Given the description of an element on the screen output the (x, y) to click on. 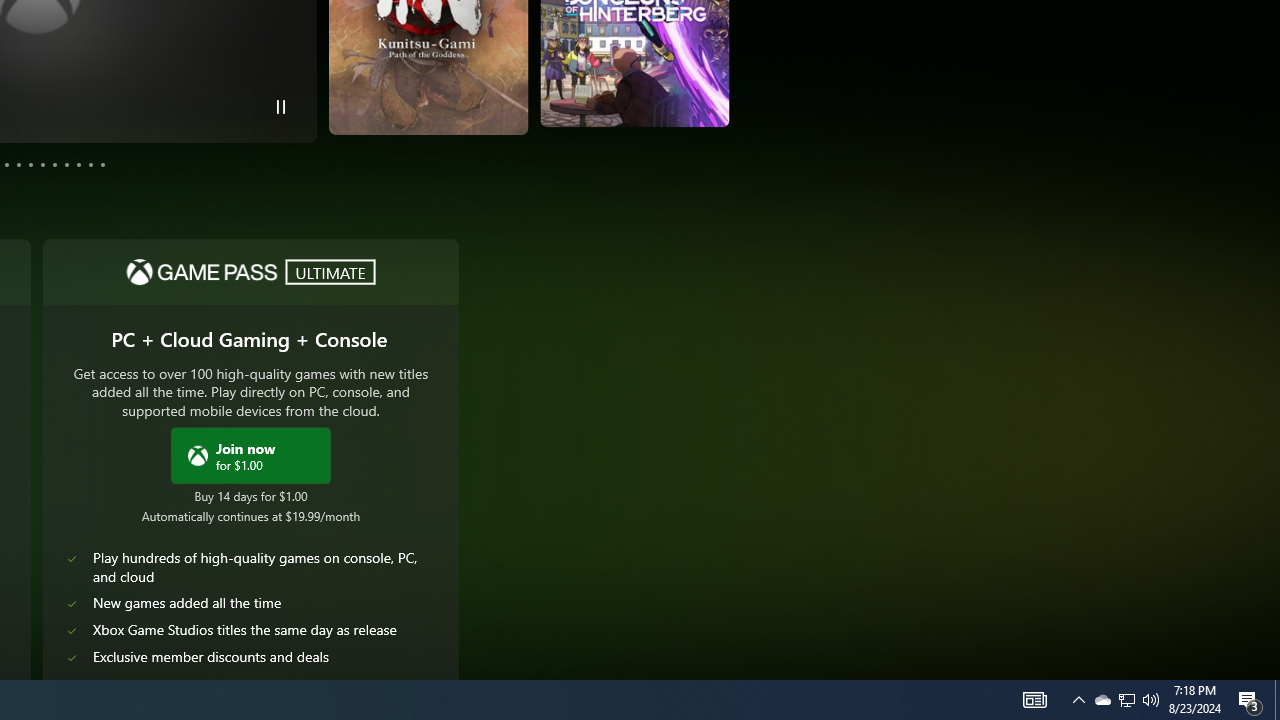
Flintlock: The Siege of Dawn (668, 73)
Play Trailer (659, 101)
Page 7 (42, 164)
Page 4 (6, 164)
Join Xbox Game Pass Ultimate now for $1.00 (251, 454)
Dungeons Of Hinterberg (481, 79)
Page 12 (102, 164)
Page 11 (90, 164)
Page 5 (18, 164)
Page 6 (31, 164)
Page 8 (54, 164)
Page 10 (78, 164)
Pause Trailer (280, 106)
Page 9 (66, 164)
